Given the description of an element on the screen output the (x, y) to click on. 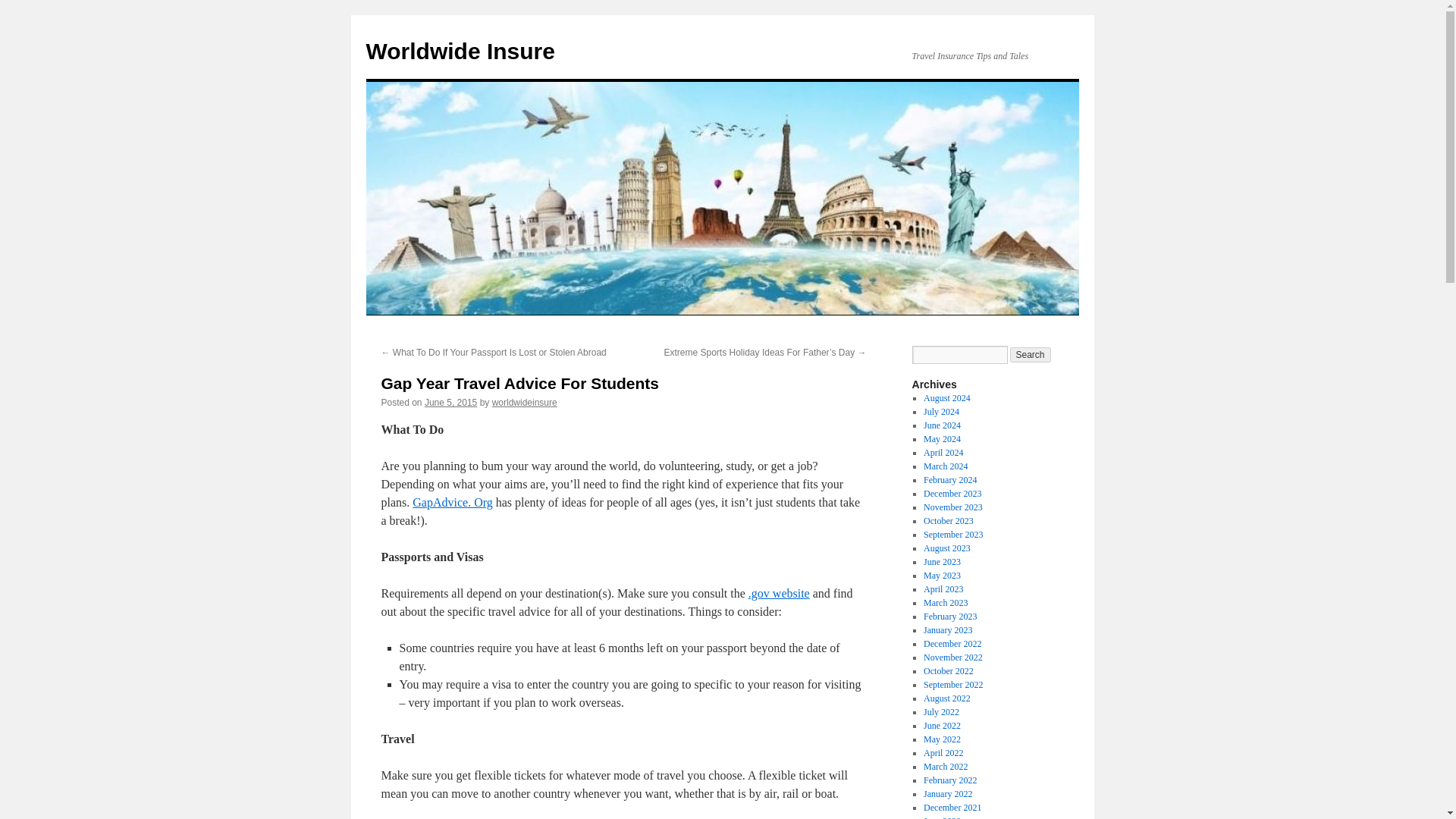
October 2022 (948, 670)
December 2023 (952, 493)
May 2024 (941, 439)
July 2024 (941, 411)
August 2024 (947, 398)
June 2022 (941, 725)
February 2024 (949, 480)
Worldwide Insure (459, 50)
June 5, 2015 (451, 402)
View all posts by worldwideinsure (524, 402)
